Given the description of an element on the screen output the (x, y) to click on. 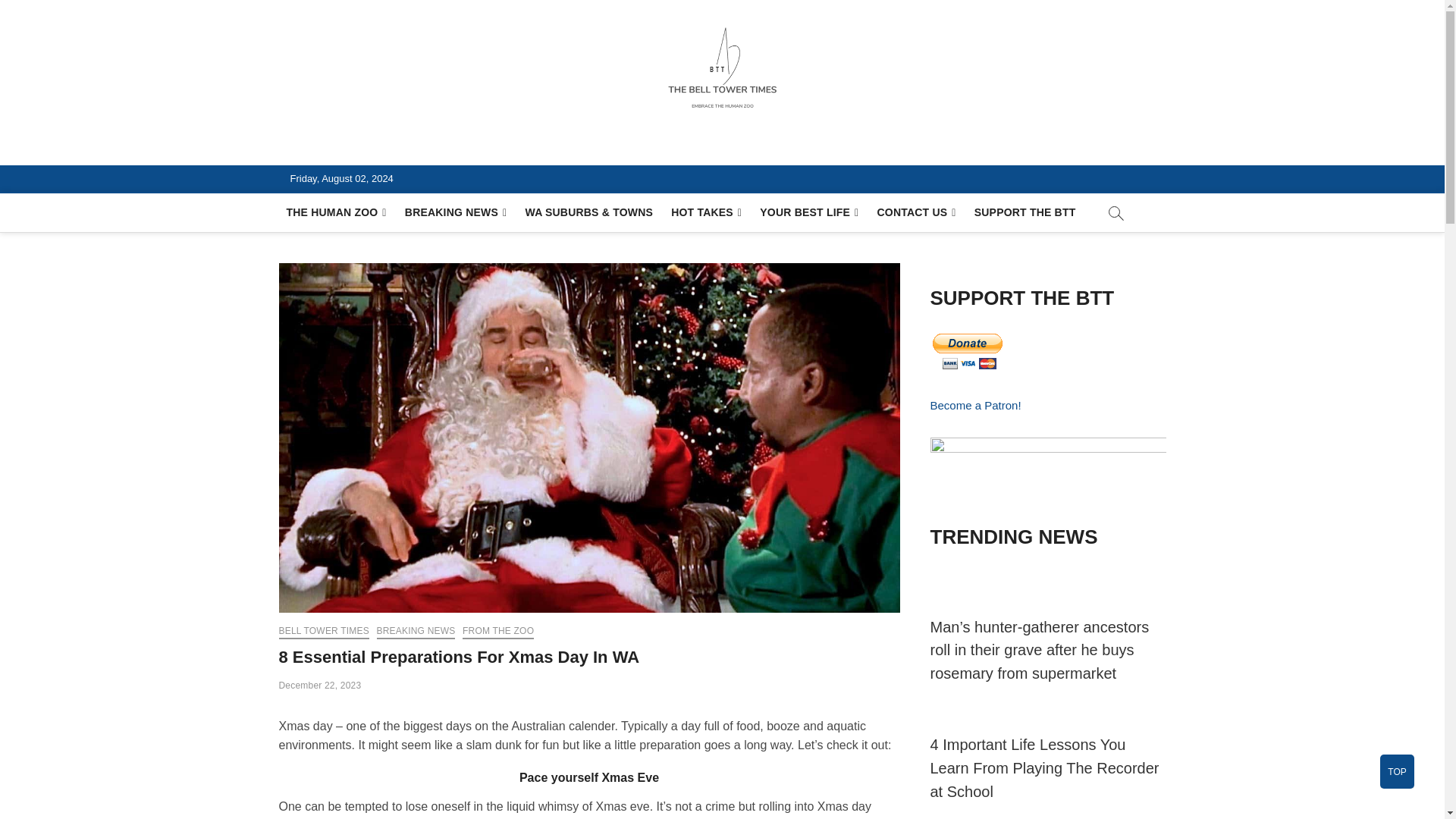
YOUR BEST LIFE (809, 212)
THE HUMAN ZOO (336, 212)
December 22, 2023 (320, 685)
The Bell Tower Times (416, 146)
BREAKING NEWS (456, 212)
HOT TAKES (706, 212)
The Bell Tower Times (416, 146)
